Given the description of an element on the screen output the (x, y) to click on. 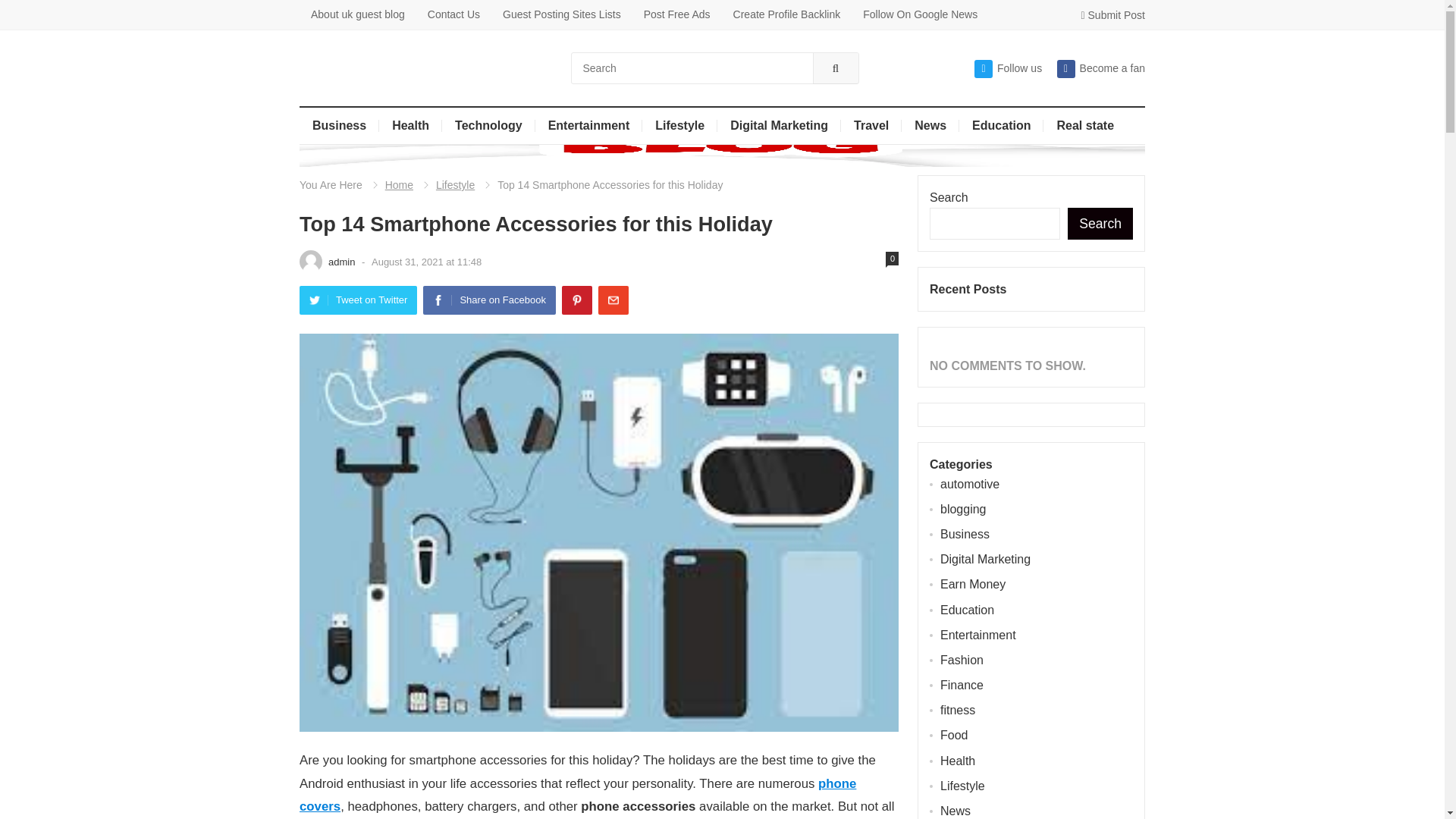
Digital Marketing (779, 125)
Become a fan (1100, 68)
Technology (488, 125)
View all posts in Lifestyle (445, 184)
Health (410, 125)
Business (338, 125)
Contact Us (454, 14)
Submit Post (1113, 15)
About uk guest blog (357, 14)
Lifestyle (679, 125)
Entertainment (589, 125)
News (930, 125)
Follow us (1008, 68)
Post Free Ads (676, 14)
Real state (1084, 125)
